Given the description of an element on the screen output the (x, y) to click on. 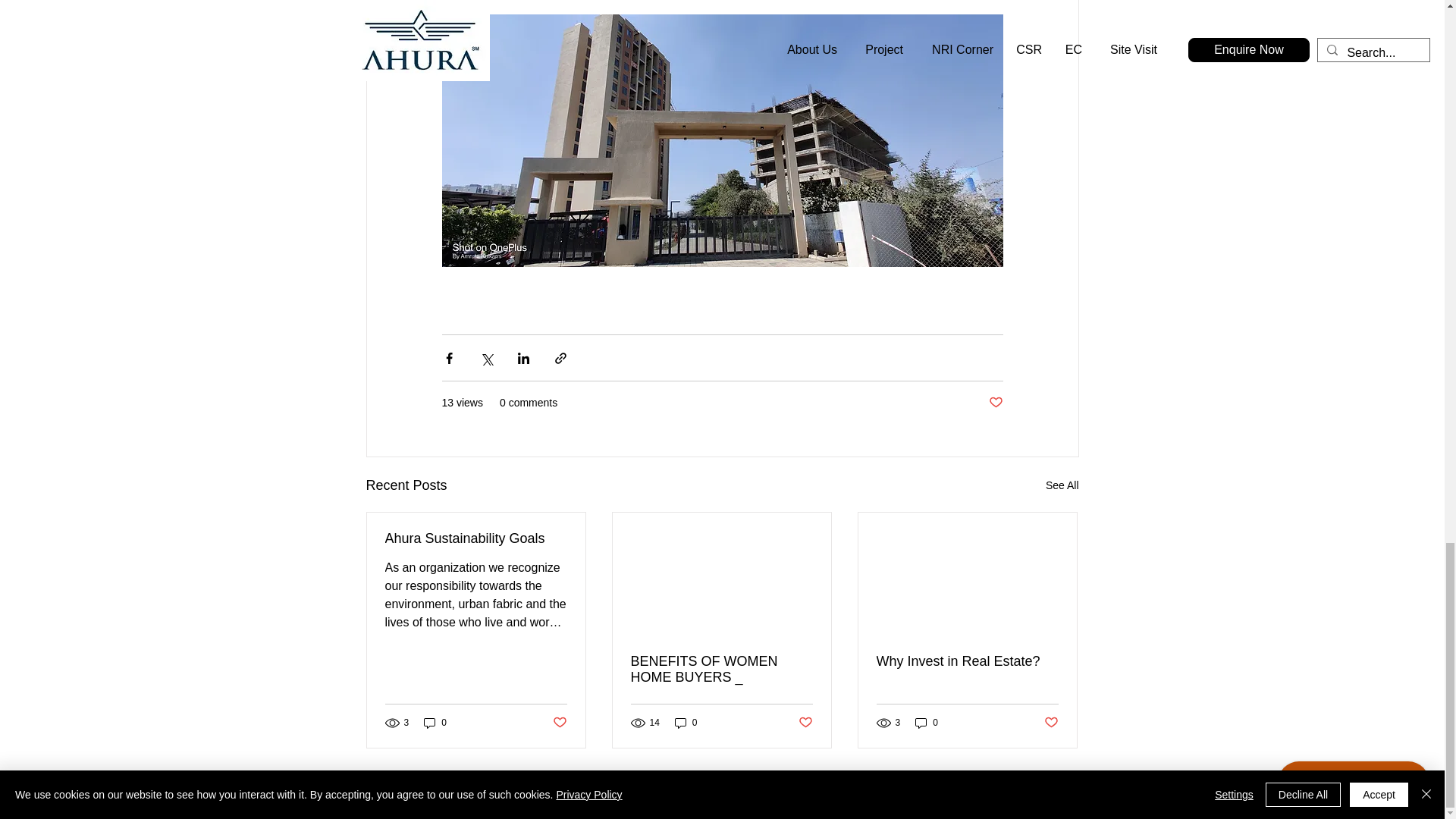
Post not marked as liked (1050, 722)
0 (685, 722)
See All (1061, 485)
0 (926, 722)
Post not marked as liked (995, 402)
Post not marked as liked (804, 722)
Post not marked as liked (558, 722)
Ahura Sustainability Goals (476, 538)
Why Invest in Real Estate? (967, 661)
0 (435, 722)
